Given the description of an element on the screen output the (x, y) to click on. 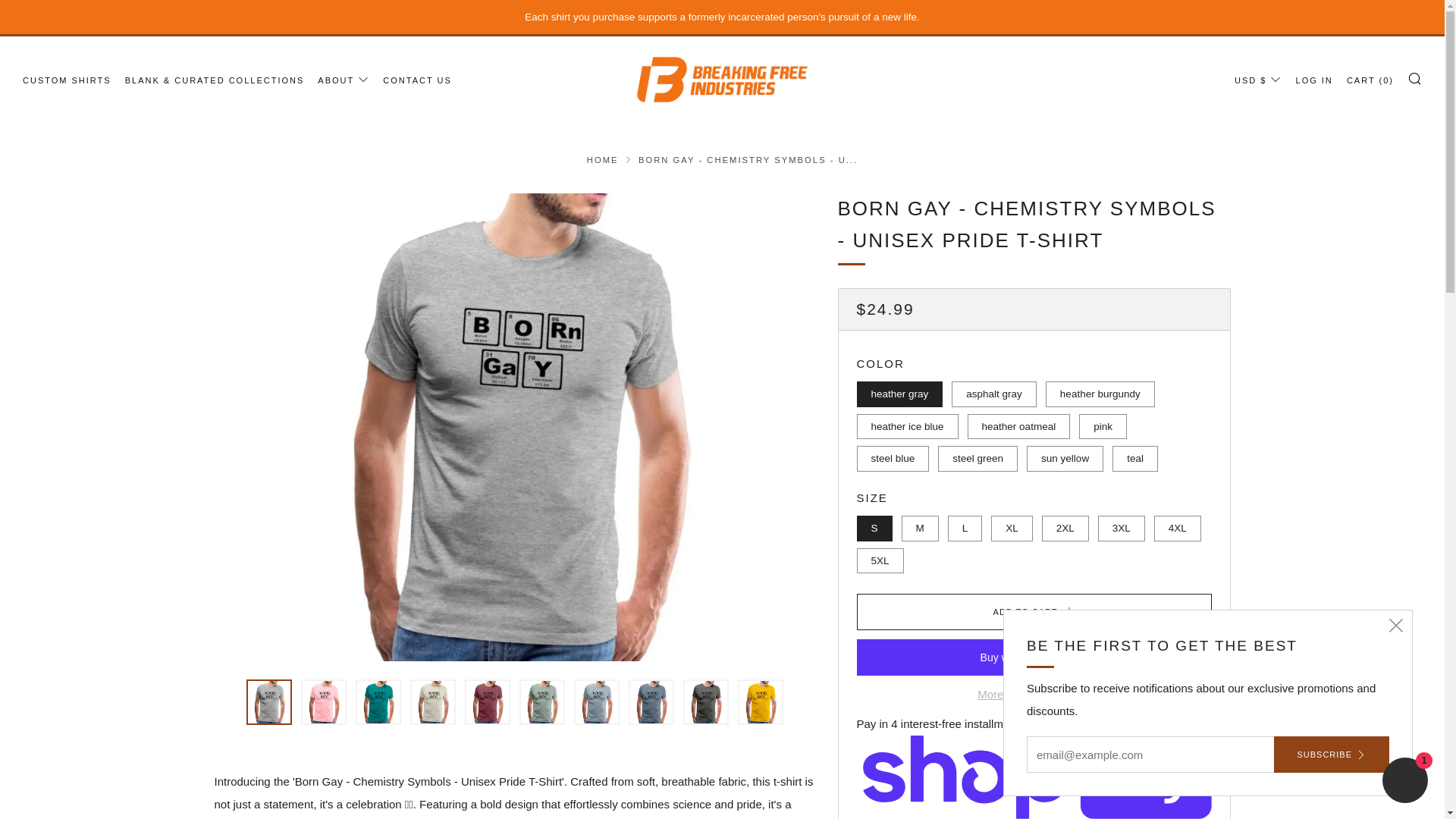
Shopify online store chat (1404, 781)
